Given the description of an element on the screen output the (x, y) to click on. 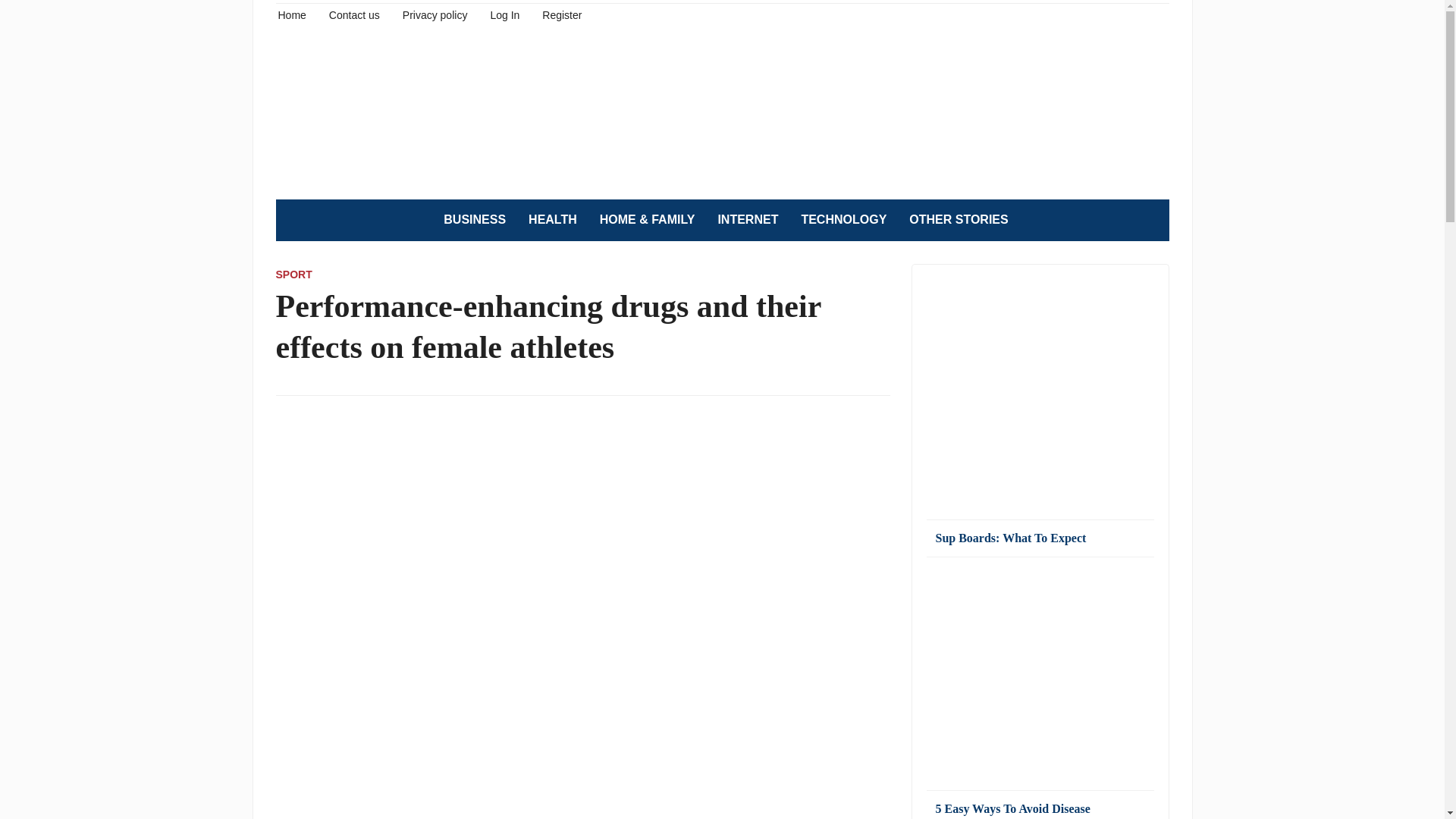
Contact us (354, 14)
Register (560, 14)
Log In (504, 14)
Home (291, 14)
Privacy policy (435, 14)
Search (1149, 219)
